Given the description of an element on the screen output the (x, y) to click on. 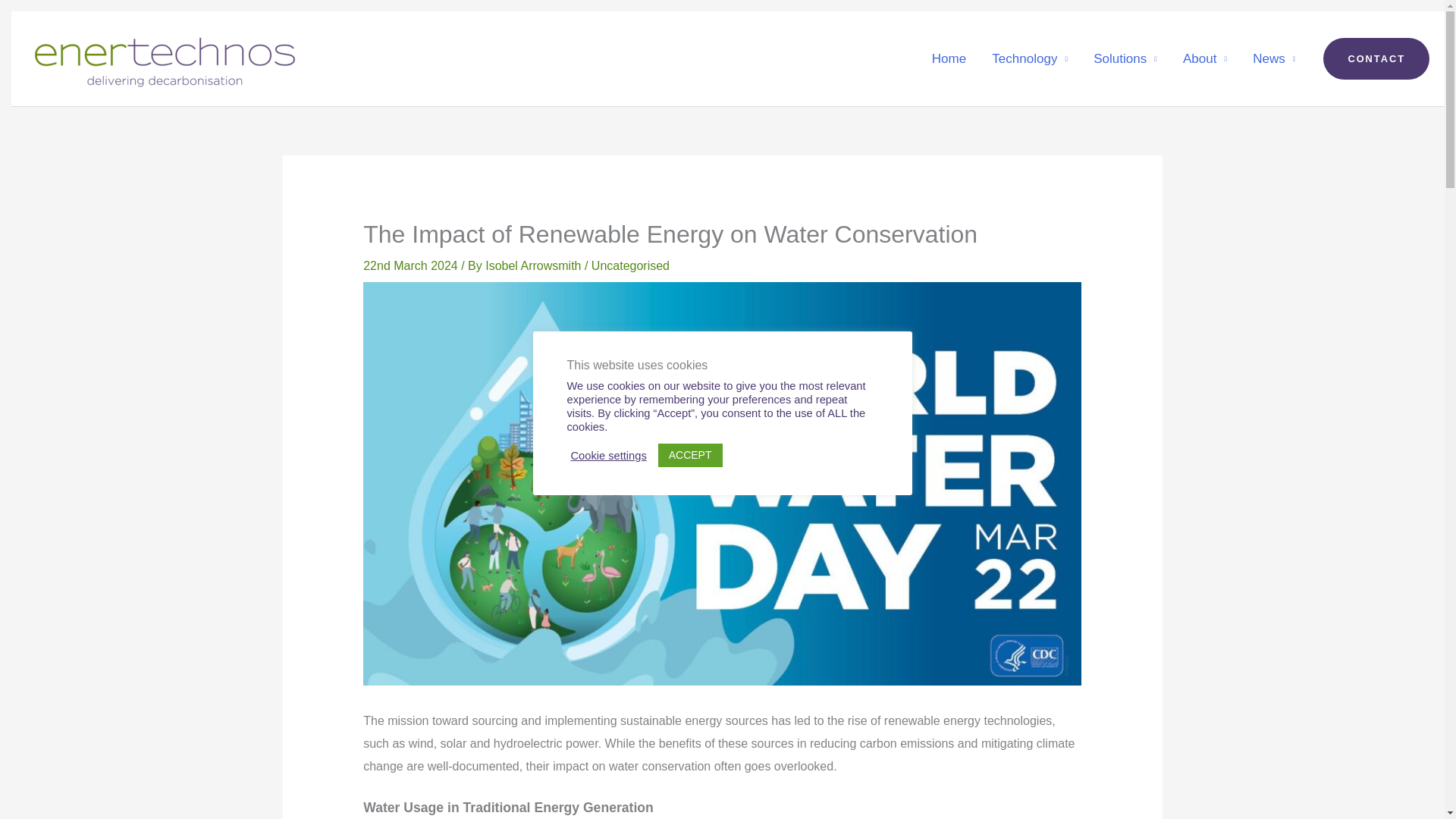
Solutions (1125, 58)
News (1273, 58)
CONTACT (1376, 58)
View all posts by Isobel Arrowsmith (534, 265)
Home (948, 58)
About (1205, 58)
Technology (1029, 58)
